Given the description of an element on the screen output the (x, y) to click on. 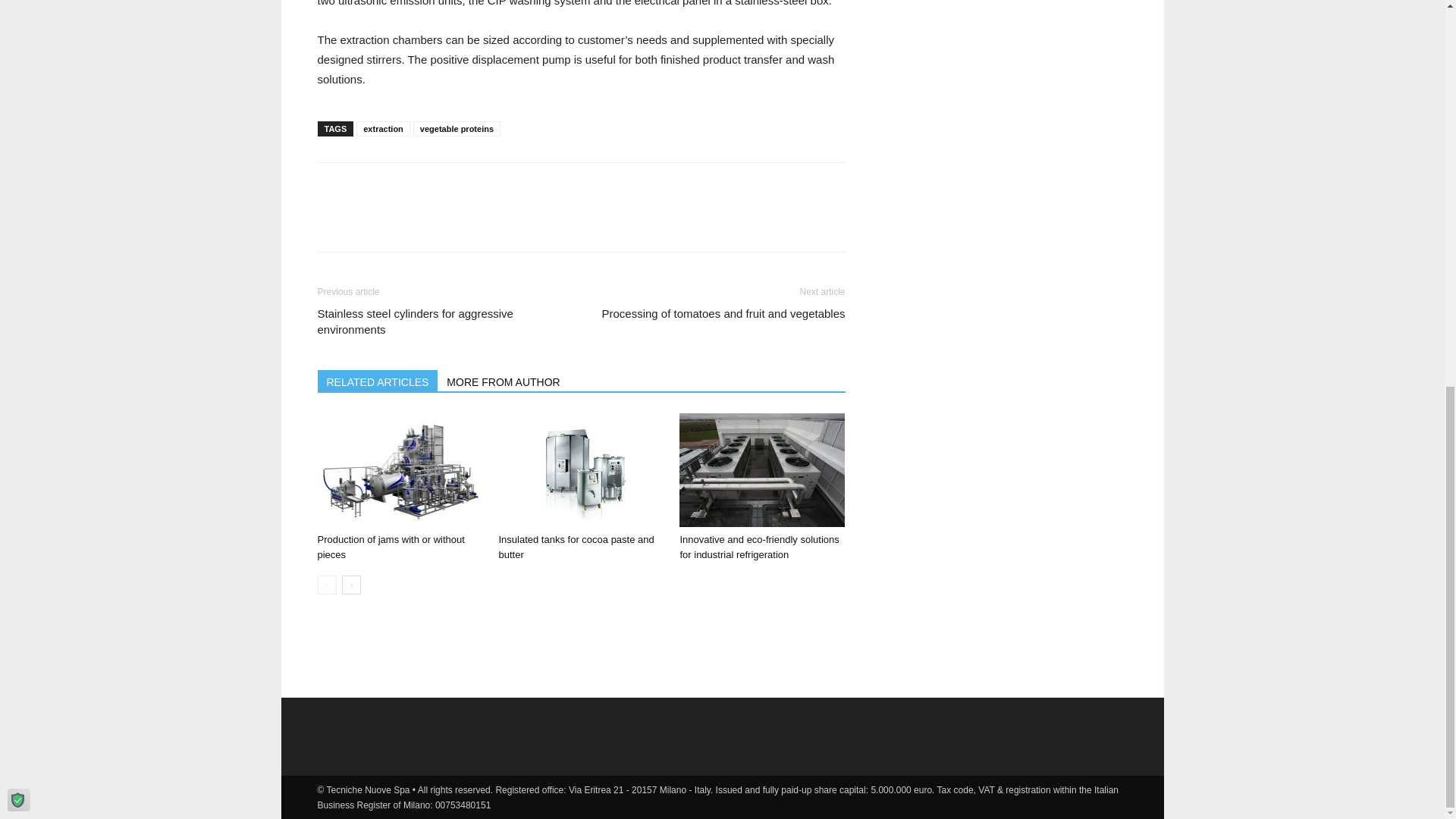
vegetable proteins (456, 128)
Stainless steel cylinders for aggressive environments (439, 321)
Insulated tanks for cocoa paste and butter (580, 470)
MORE FROM AUTHOR (503, 380)
Production of jams with or without pieces (390, 546)
Production of jams with or without pieces (390, 546)
extraction (383, 128)
Production of jams with or without pieces (399, 470)
